Given the description of an element on the screen output the (x, y) to click on. 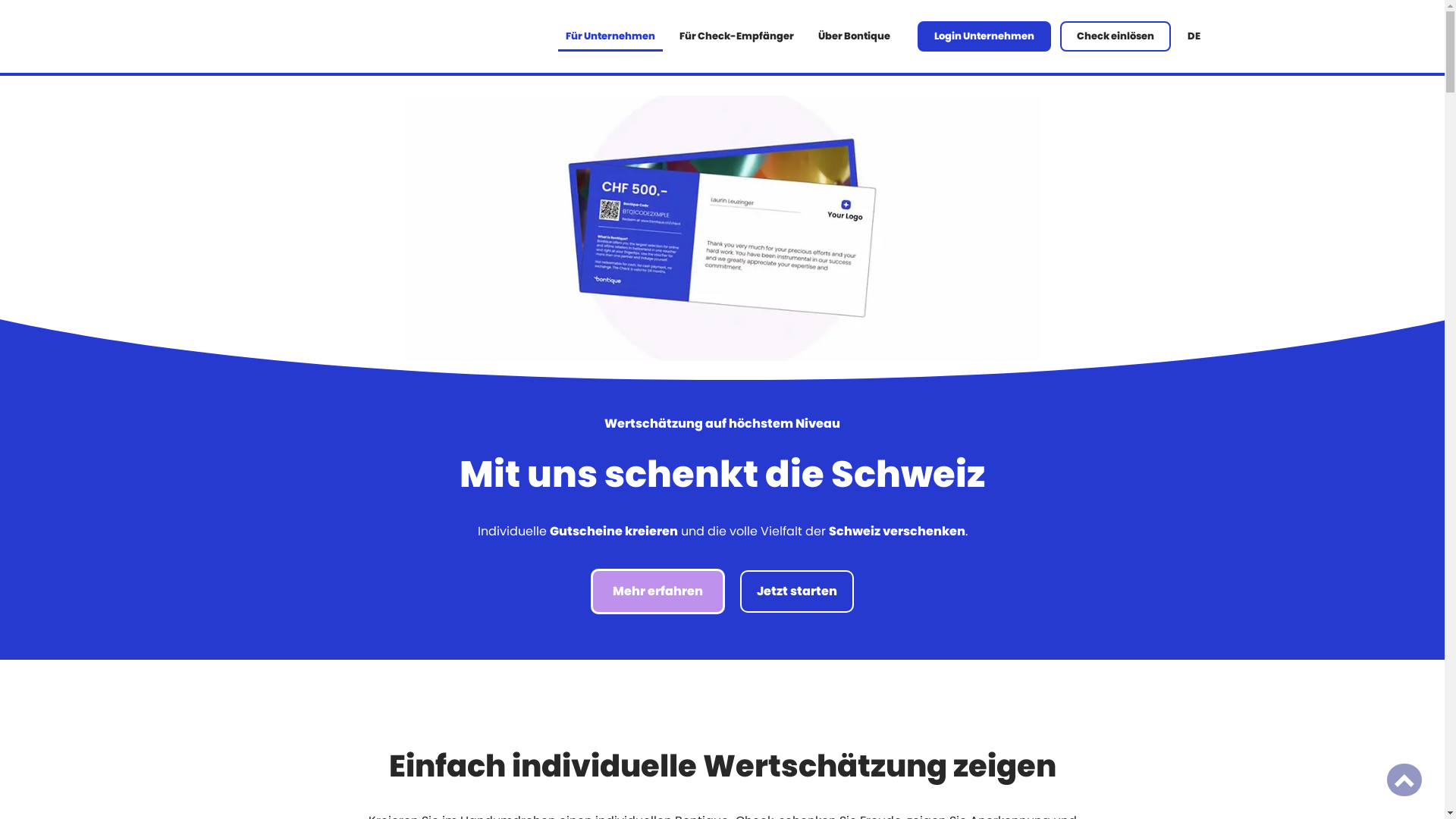
Mehr erfahren Element type: text (657, 591)
Login Unternehmen Element type: text (984, 36)
Jetzt starten Element type: text (796, 591)
logo Element type: hover (302, 36)
DE Element type: text (1193, 36)
